Given the description of an element on the screen output the (x, y) to click on. 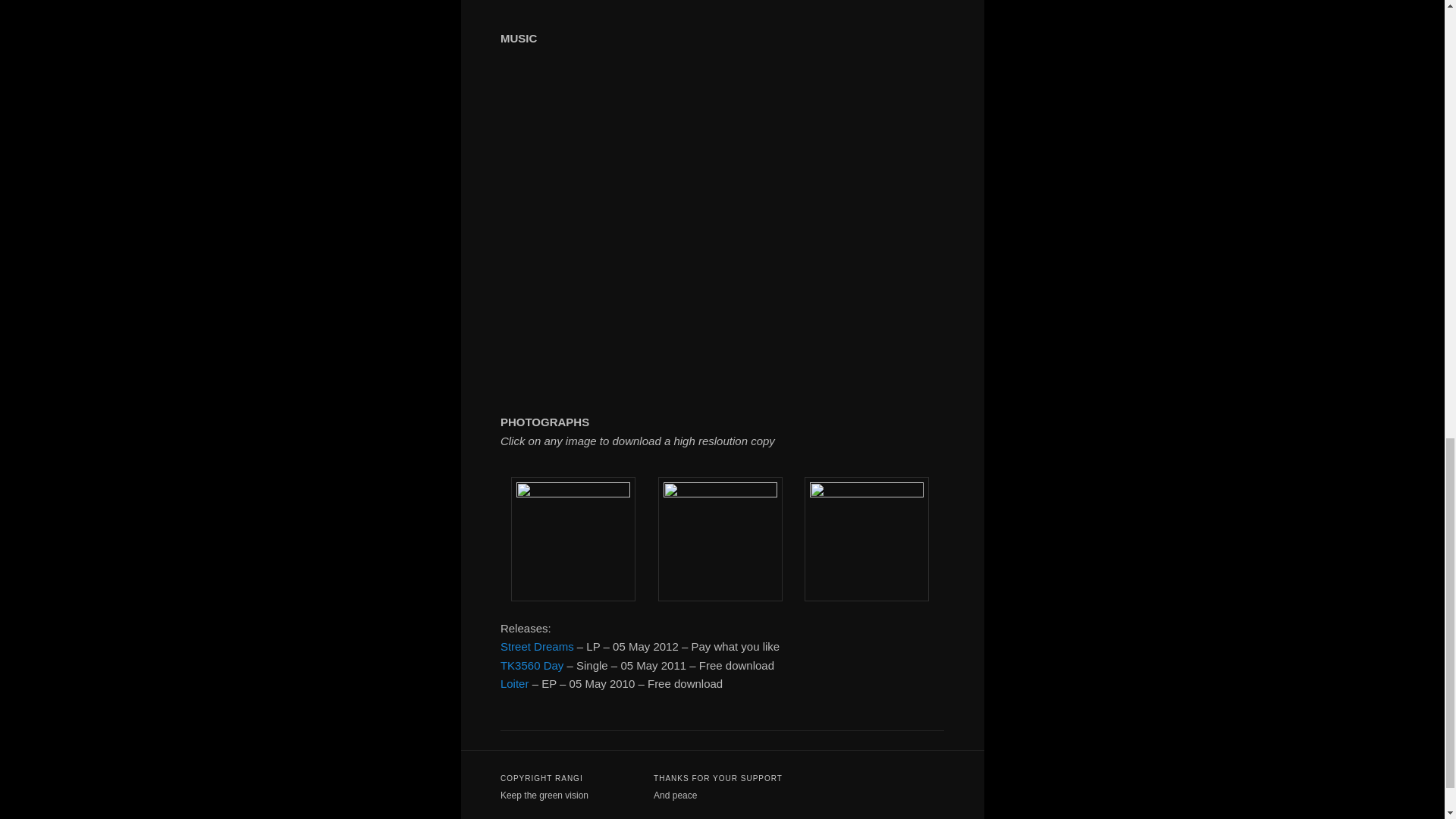
Loiter (514, 683)
Street Dreams (536, 645)
TK3560 Day (531, 665)
